Given the description of an element on the screen output the (x, y) to click on. 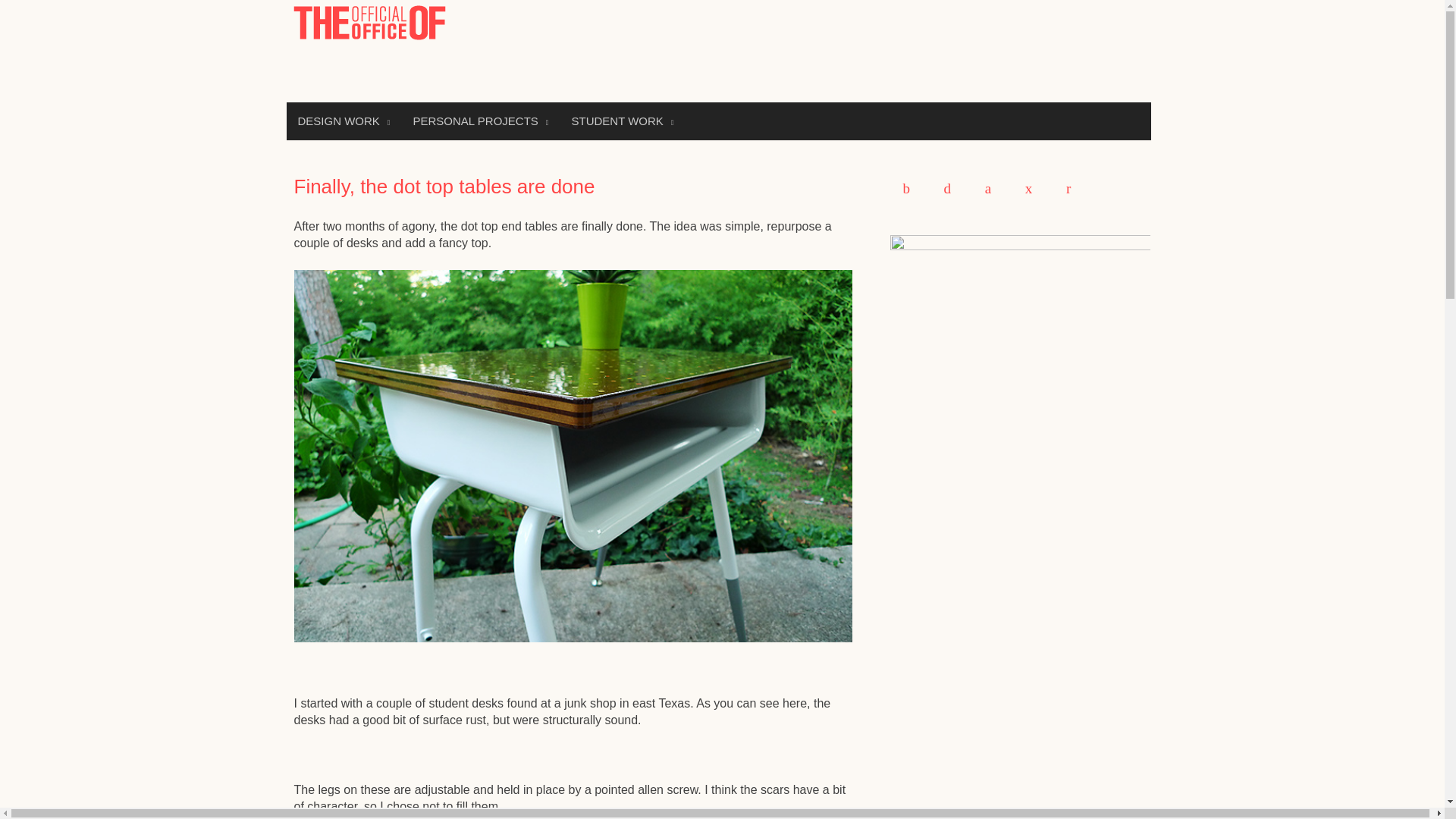
DESIGN WORK (343, 121)
STUDENT WORK (621, 121)
PERSONAL PROJECTS (480, 121)
